Given the description of an element on the screen output the (x, y) to click on. 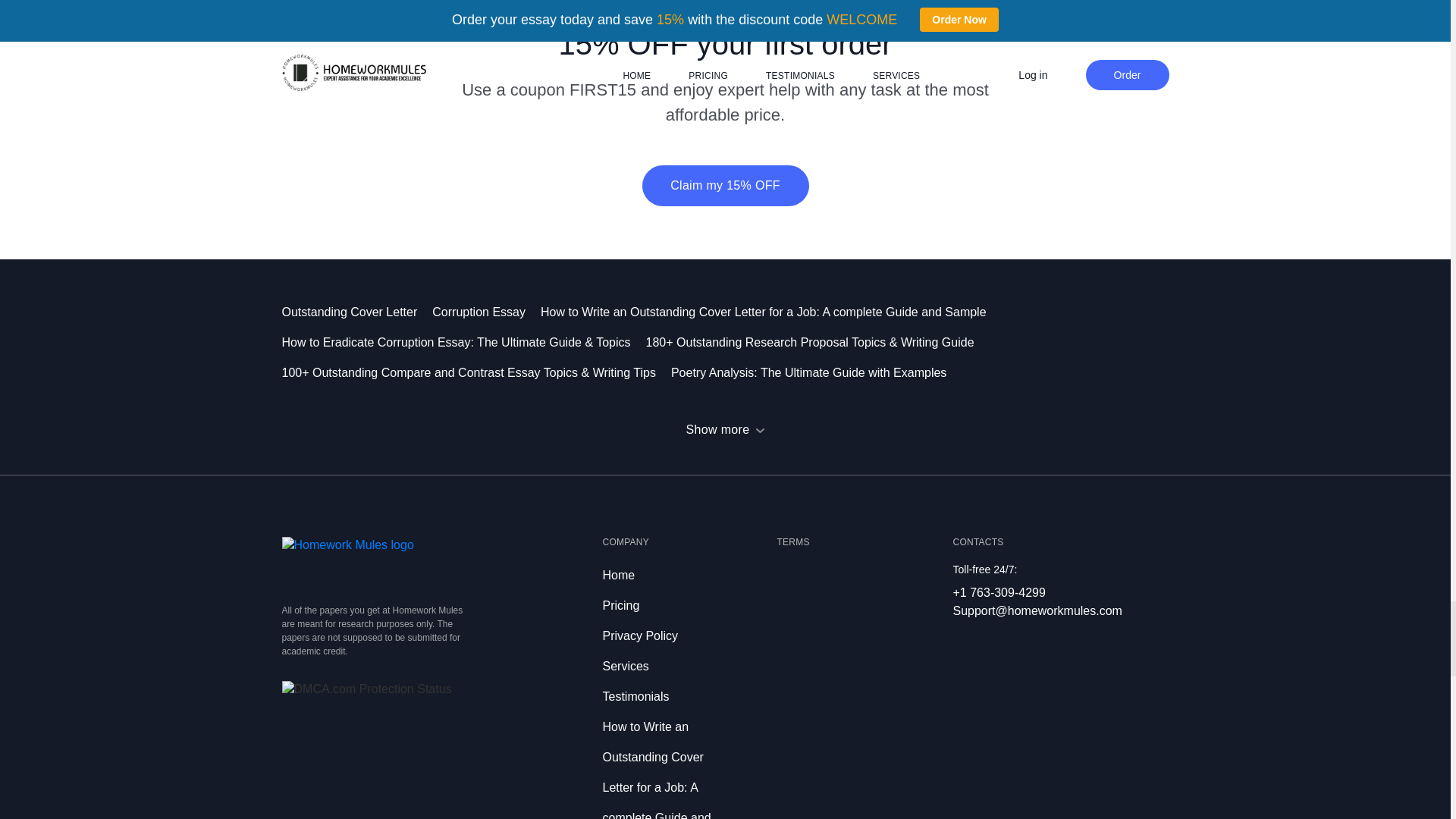
Corruption Essay (486, 311)
Poetry Analysis: The Ultimate Guide with Examples (815, 372)
Outstanding Cover Letter (357, 311)
